Given the description of an element on the screen output the (x, y) to click on. 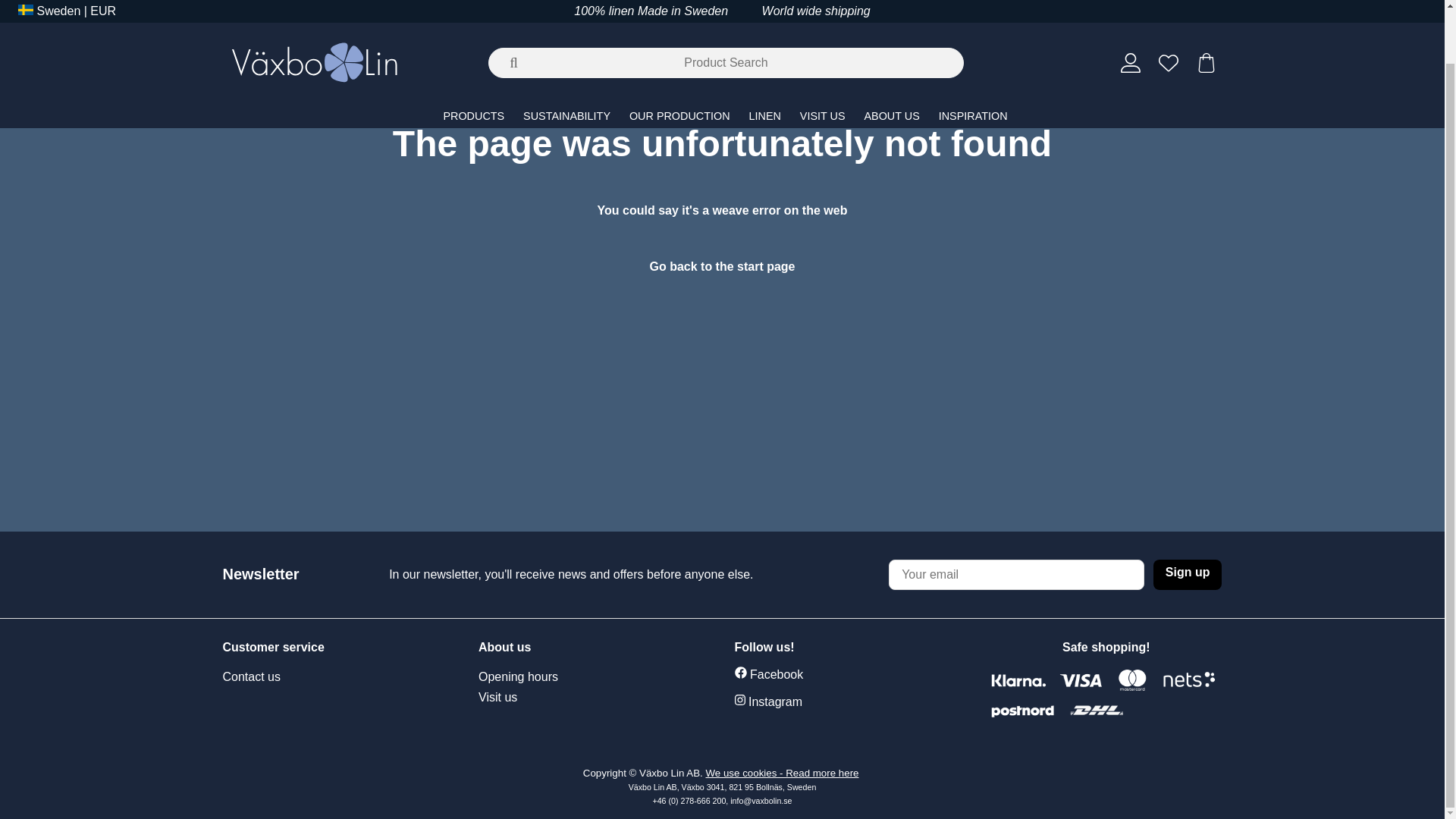
LINEN (766, 57)
VISIT US (823, 57)
SUSTAINABILITY (568, 57)
Contact us (251, 676)
Opening hours (539, 676)
ABOUT US (892, 57)
OUR PRODUCTION (681, 57)
INSPIRATION (973, 57)
Visit us (539, 698)
